Given the description of an element on the screen output the (x, y) to click on. 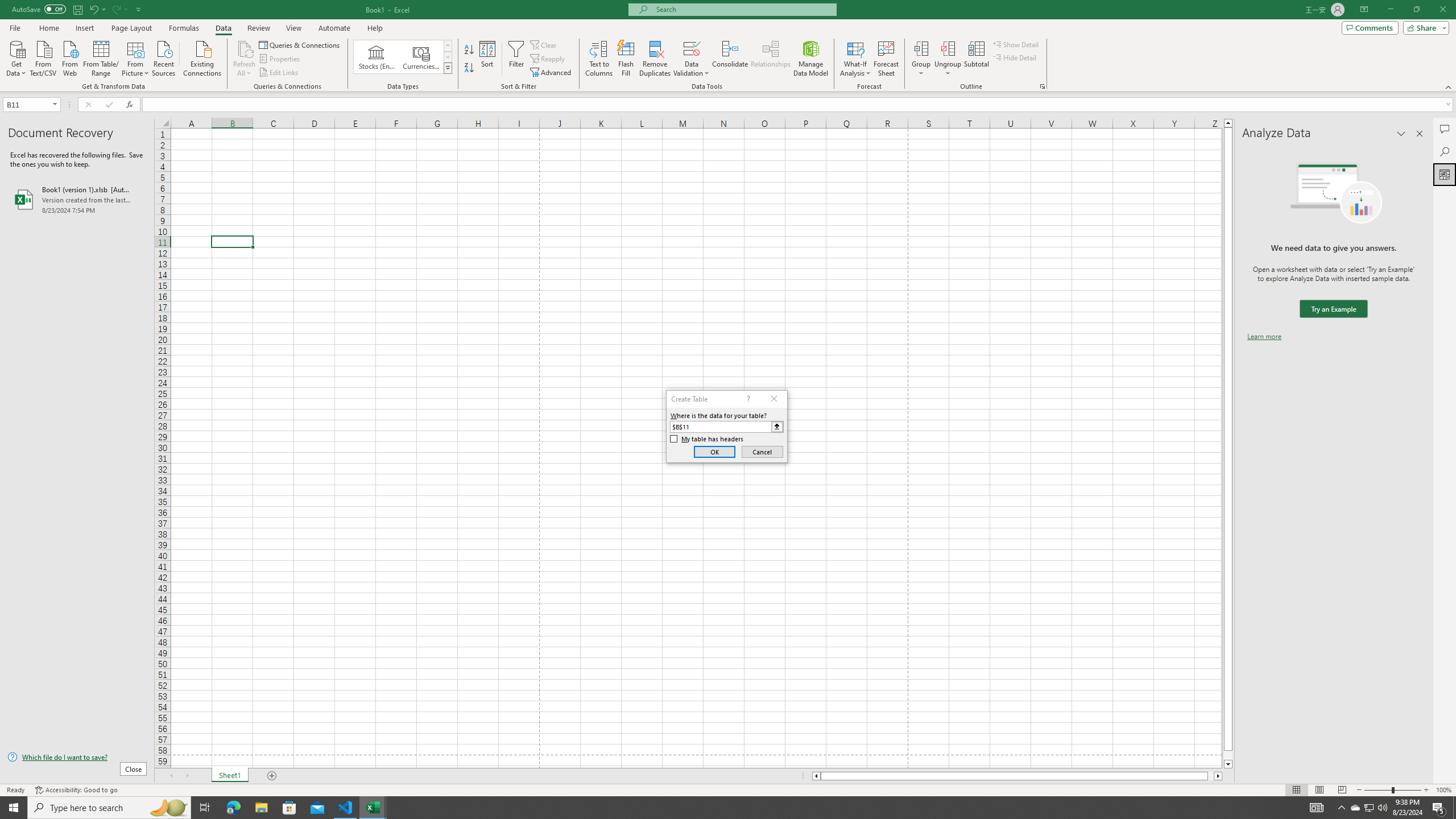
Text to Columns... (598, 58)
Hide Detail (1014, 56)
From Picture (135, 57)
